Given the description of an element on the screen output the (x, y) to click on. 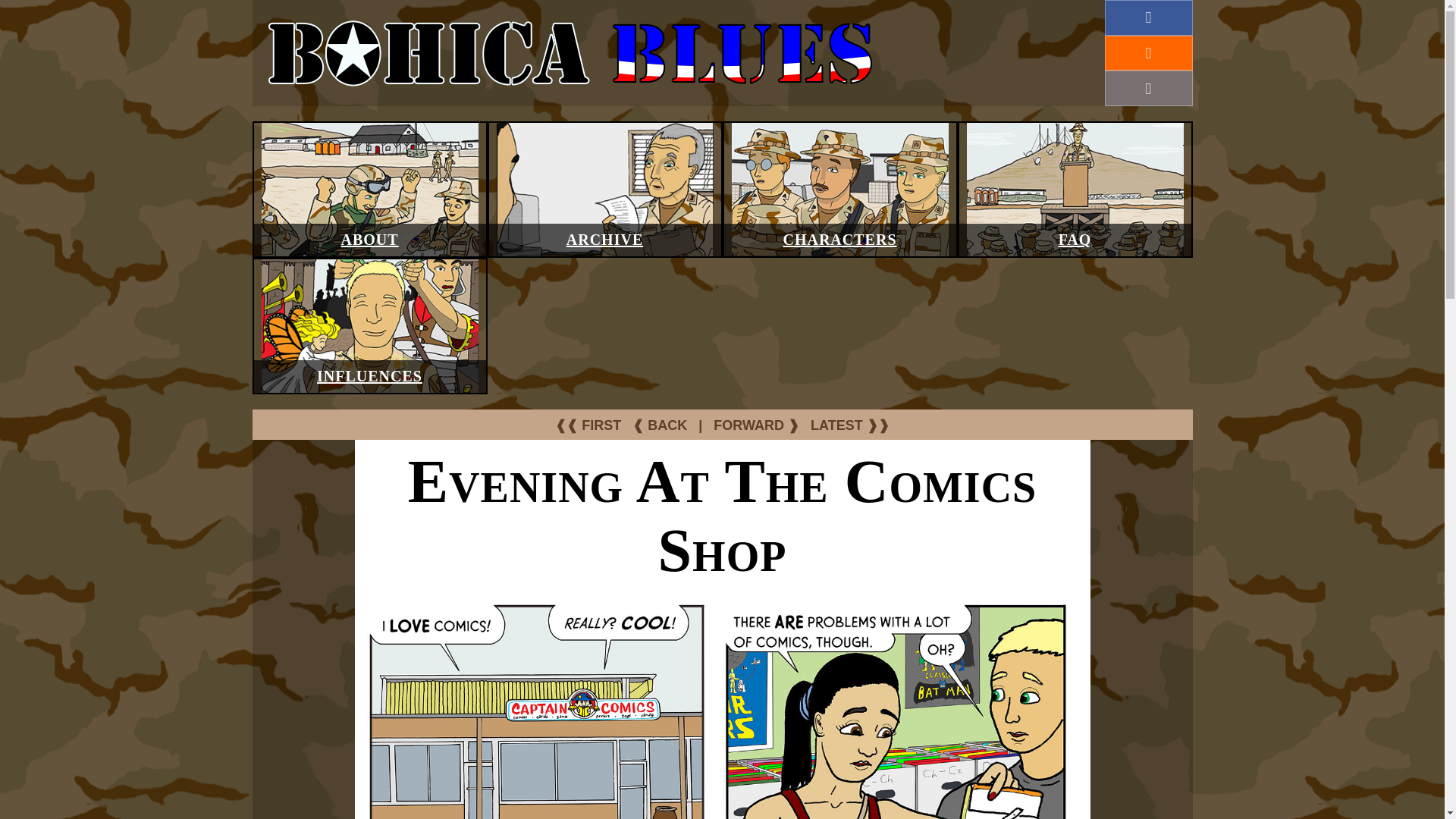
INFLUENCES (369, 375)
ABOUT (368, 239)
CHARACTERS (839, 239)
ARCHIVE (604, 239)
